Given the description of an element on the screen output the (x, y) to click on. 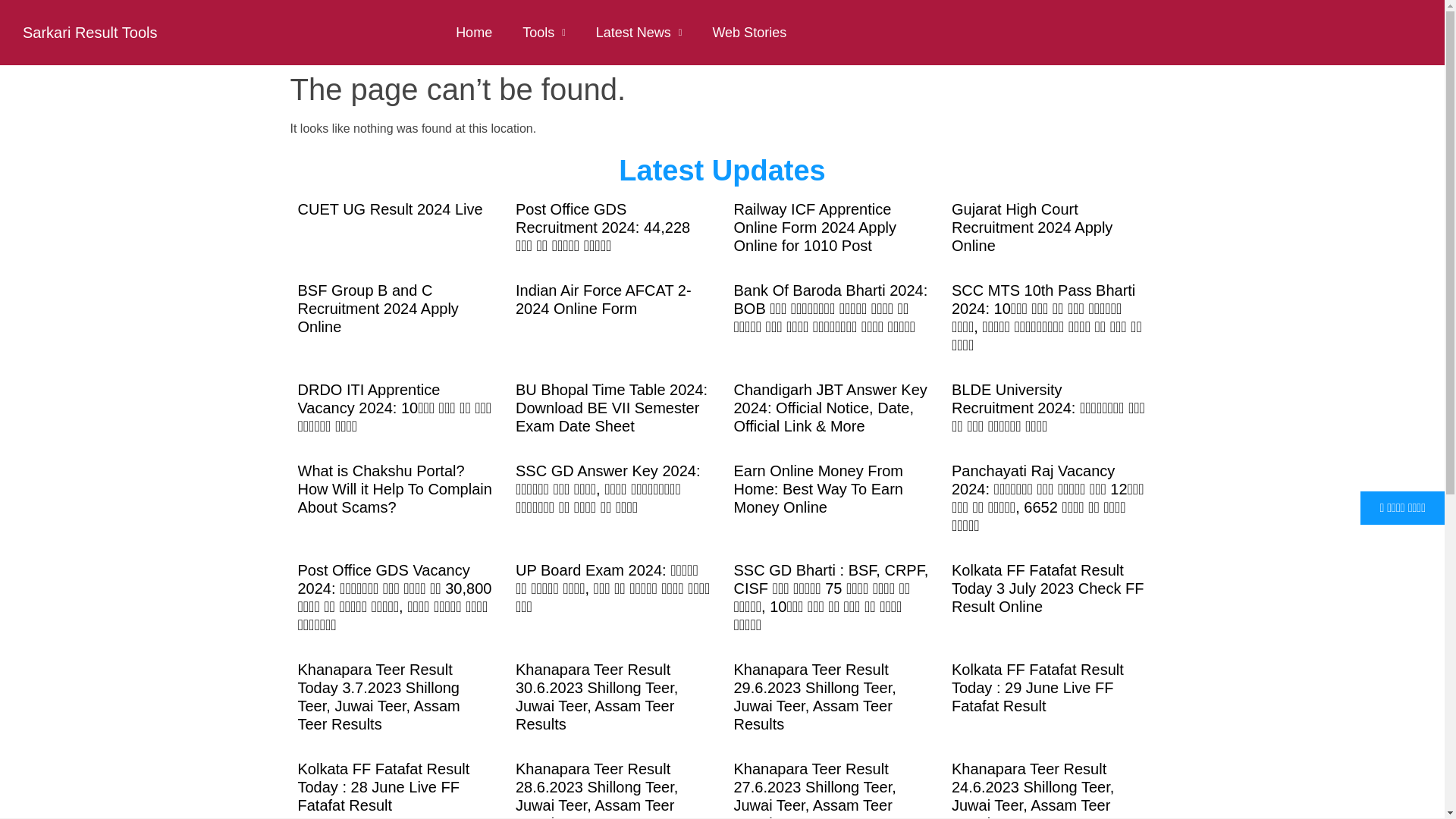
Home (473, 32)
Advertisement (729, 779)
Latest News (638, 32)
Web Stories (749, 32)
Sarkari Result Tools (90, 32)
Tools (543, 32)
